Given the description of an element on the screen output the (x, y) to click on. 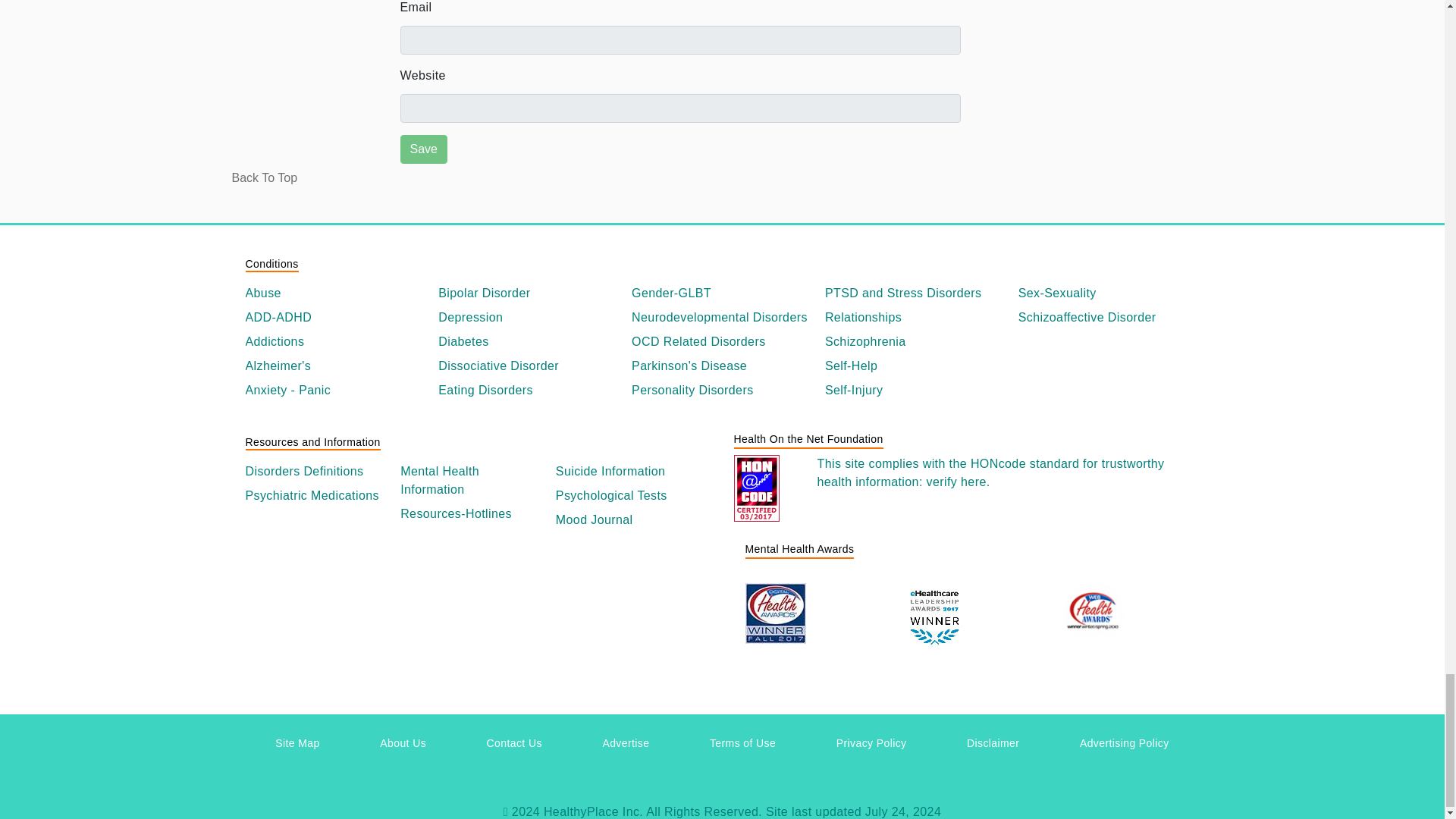
Parkinson's Disease Information Articles (721, 366)
